Given the description of an element on the screen output the (x, y) to click on. 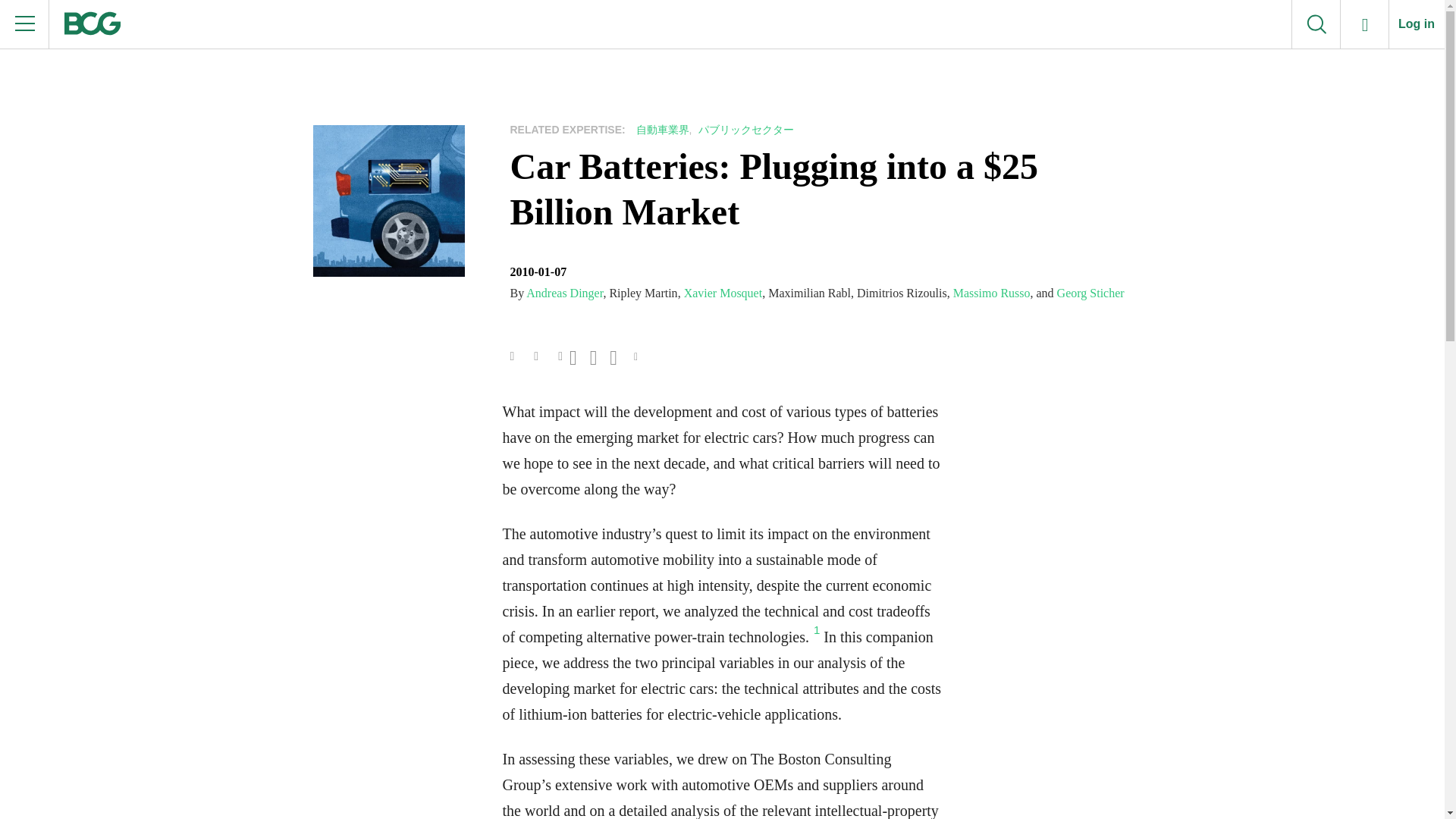
Massimo Russo (991, 292)
Andreas Dinger (563, 292)
Georg Sticher (1090, 292)
Xavier Mosquet (723, 292)
Log in (1416, 24)
